Given the description of an element on the screen output the (x, y) to click on. 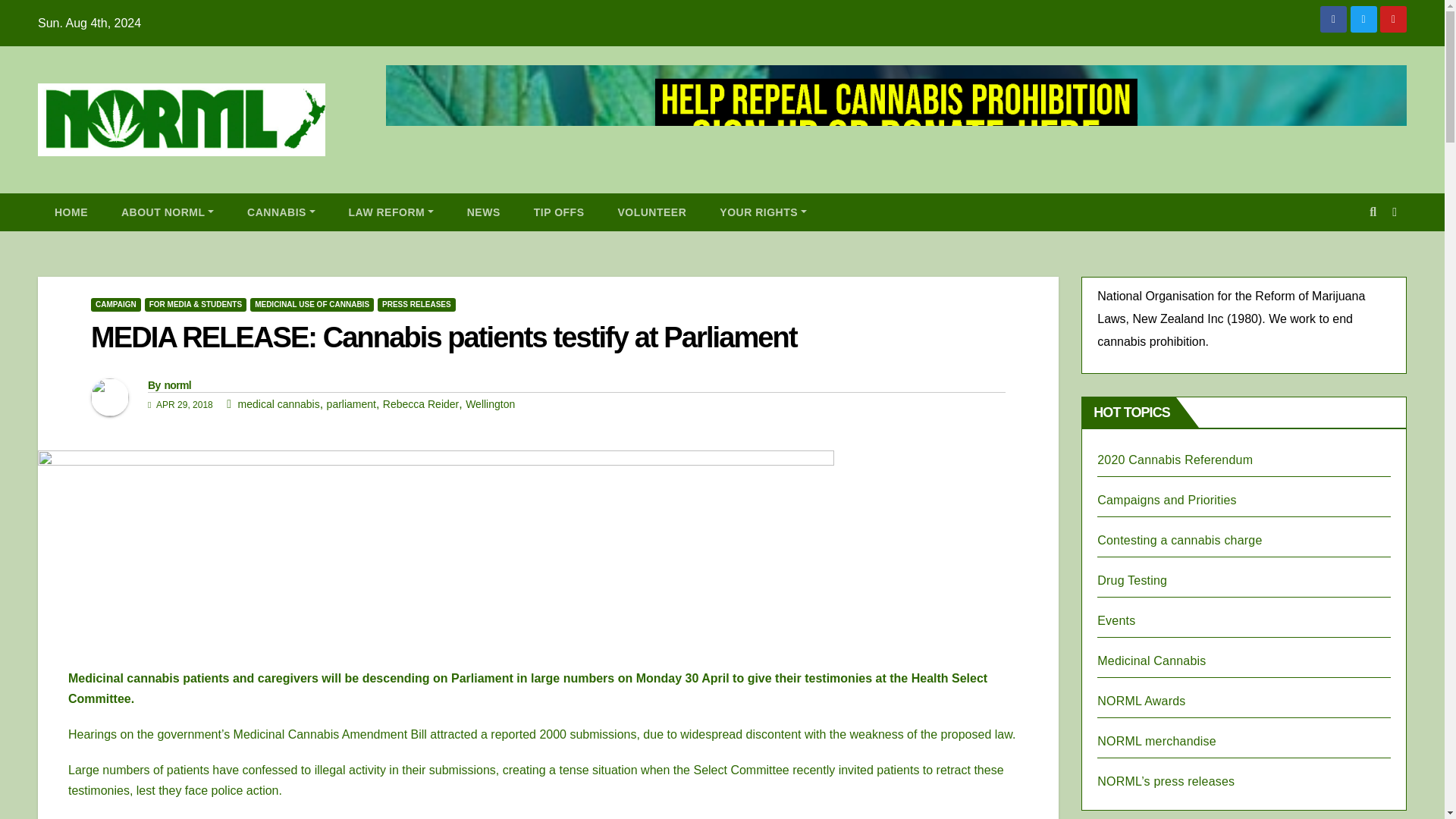
ABOUT NORML (167, 211)
CANNABIS (280, 211)
Home (70, 211)
J Day (1116, 620)
HOME (70, 211)
